Given the description of an element on the screen output the (x, y) to click on. 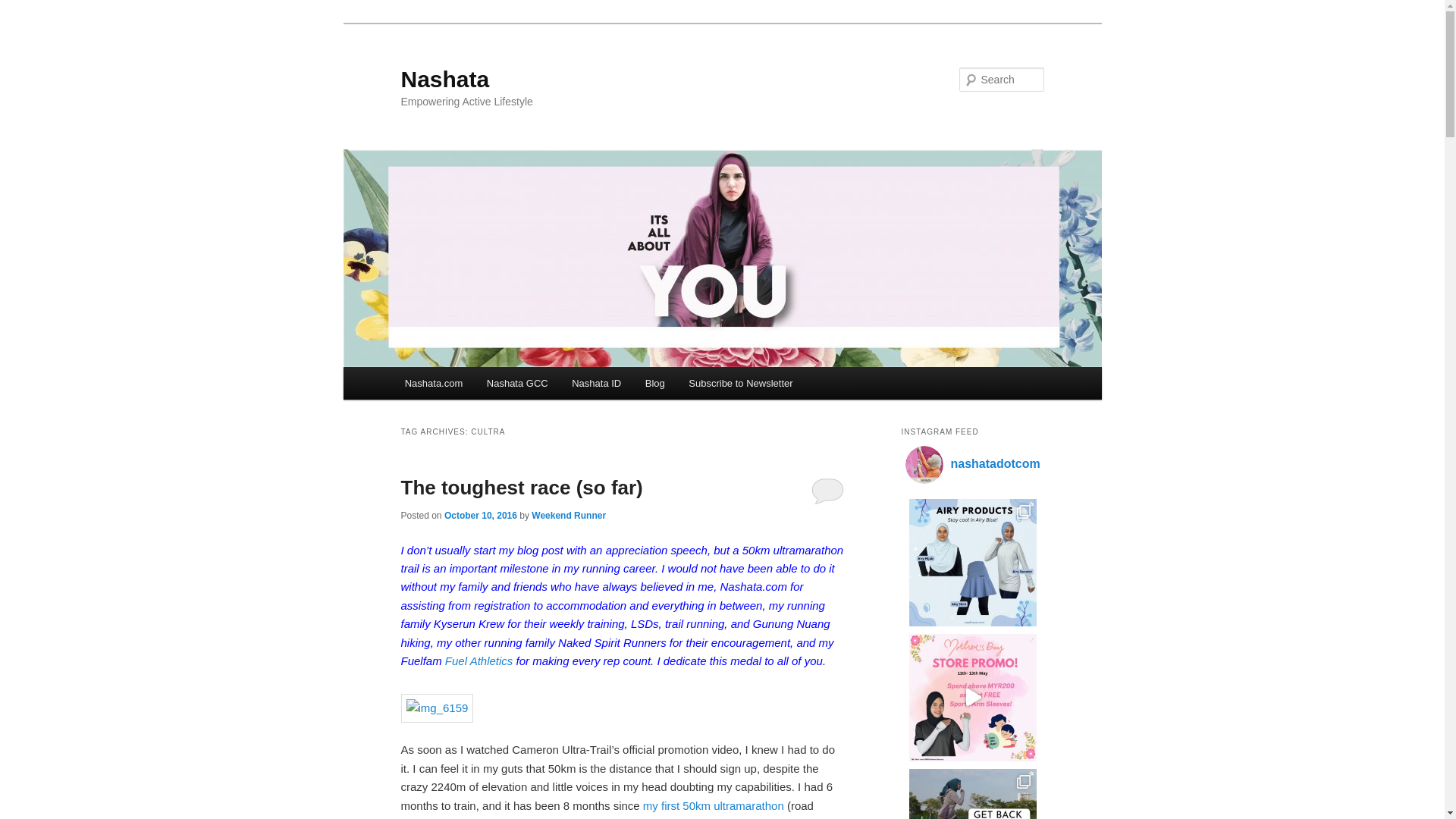
Search (24, 8)
Weekend Runner (568, 515)
View all posts by Weekend Runner (568, 515)
Nashata (444, 78)
Subscribe to Newsletter (741, 382)
Nashata ID (596, 382)
Nashata GCC (516, 382)
October 10, 2016 (480, 515)
Blog (655, 382)
